Given the description of an element on the screen output the (x, y) to click on. 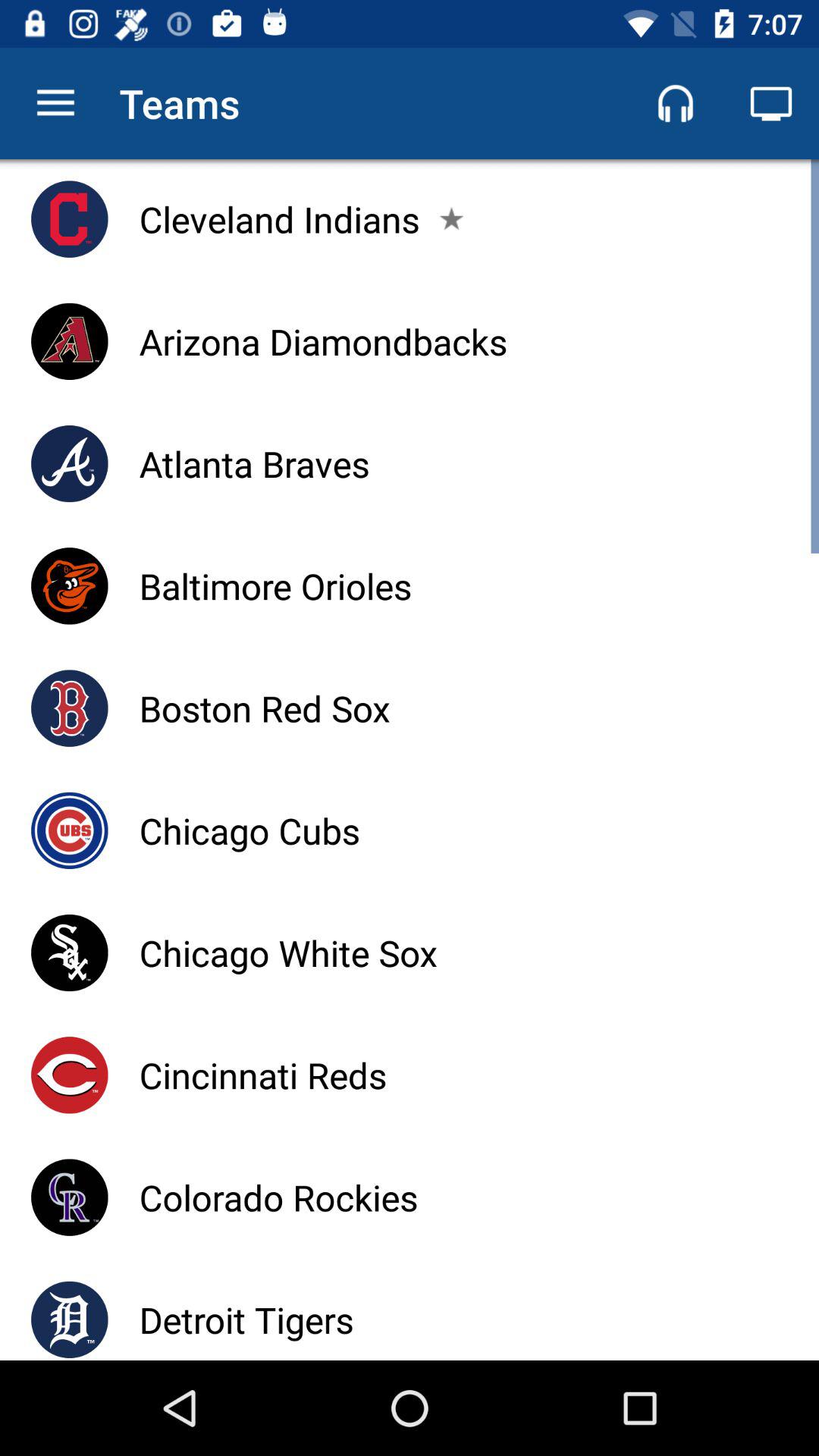
select icon above the colorado rockies (262, 1075)
